Given the description of an element on the screen output the (x, y) to click on. 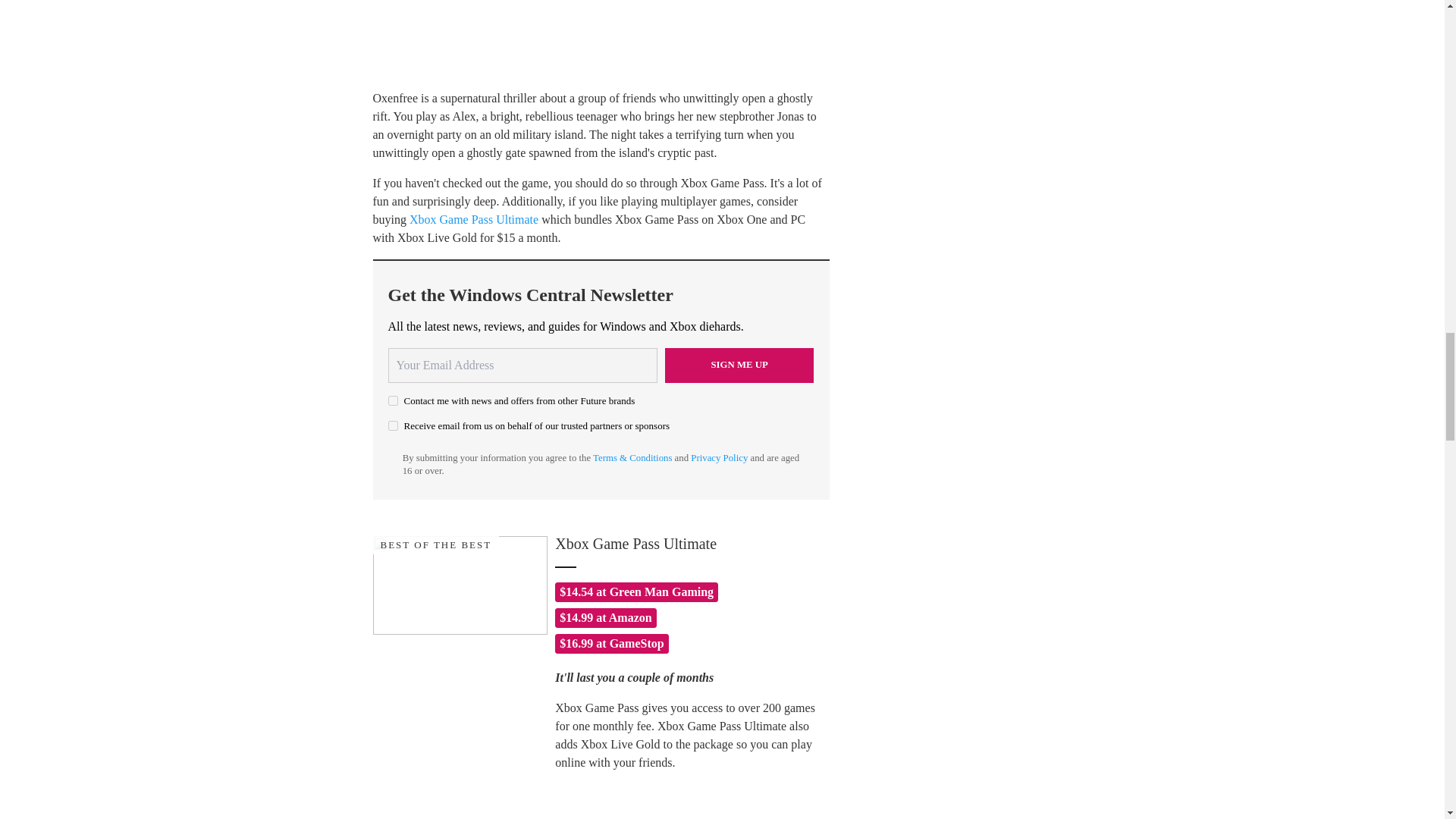
on (392, 400)
on (392, 425)
Sign me up (739, 365)
